Given the description of an element on the screen output the (x, y) to click on. 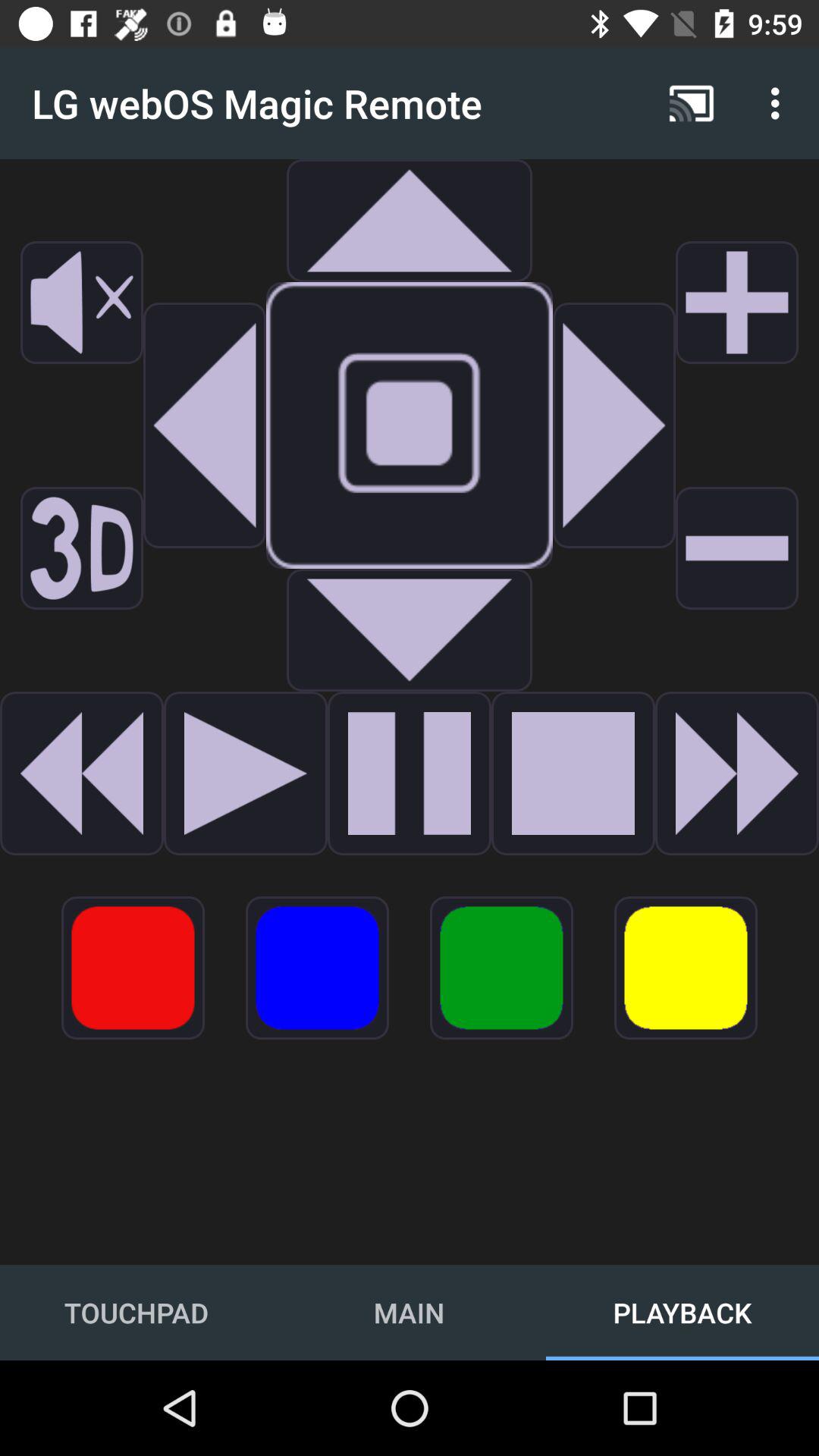
go to auto (613, 425)
